Given the description of an element on the screen output the (x, y) to click on. 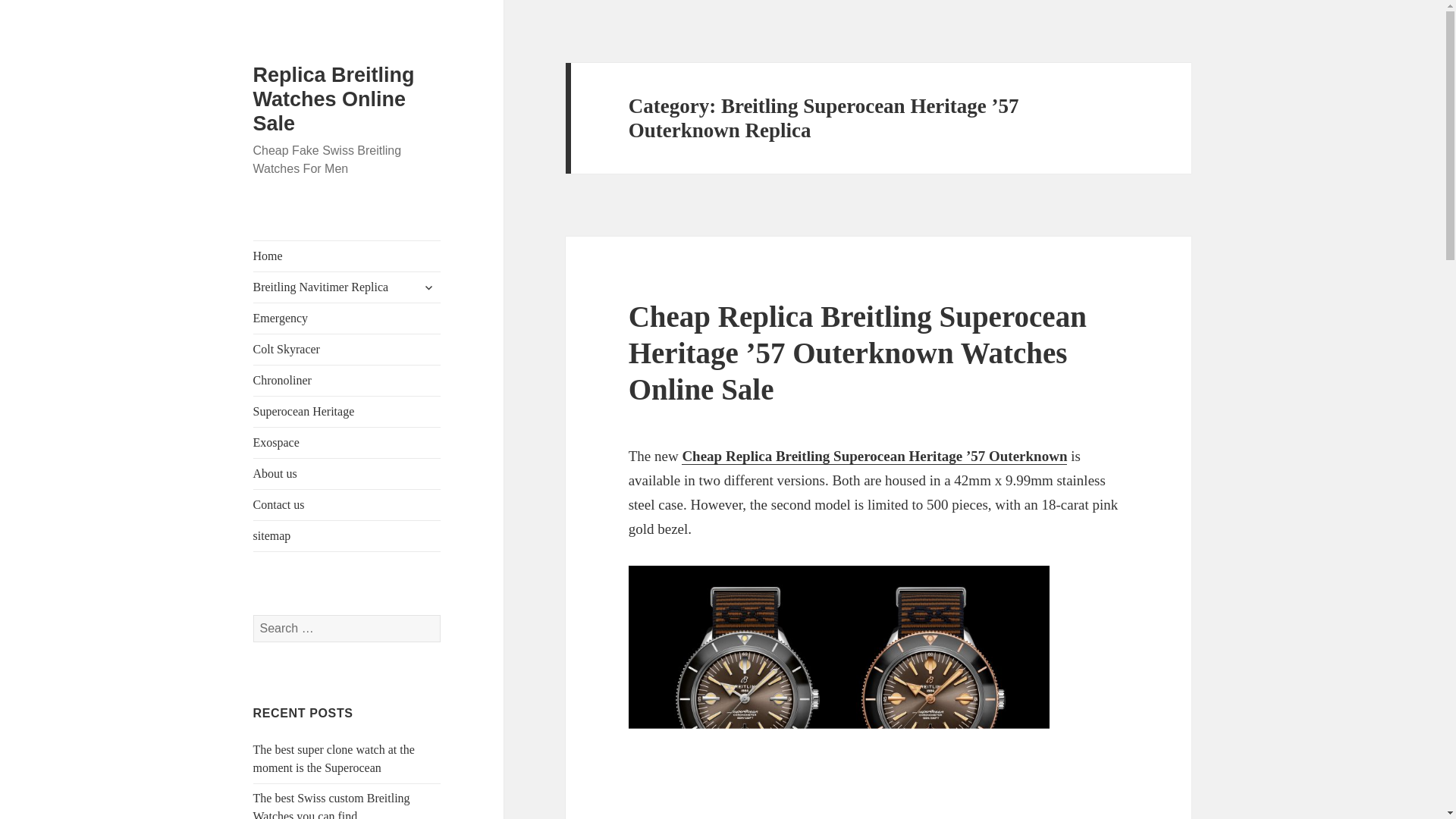
Breitling Navitimer Replica (347, 286)
expand child menu (428, 287)
Colt Skyracer (347, 349)
Superocean Heritage (347, 411)
Exospace (347, 442)
The best Swiss custom Breitling Watches you can find (331, 805)
sitemap (347, 535)
Replica Breitling Watches Online Sale (333, 99)
The best super clone watch at the moment is the Superocean (333, 757)
